Given the description of an element on the screen output the (x, y) to click on. 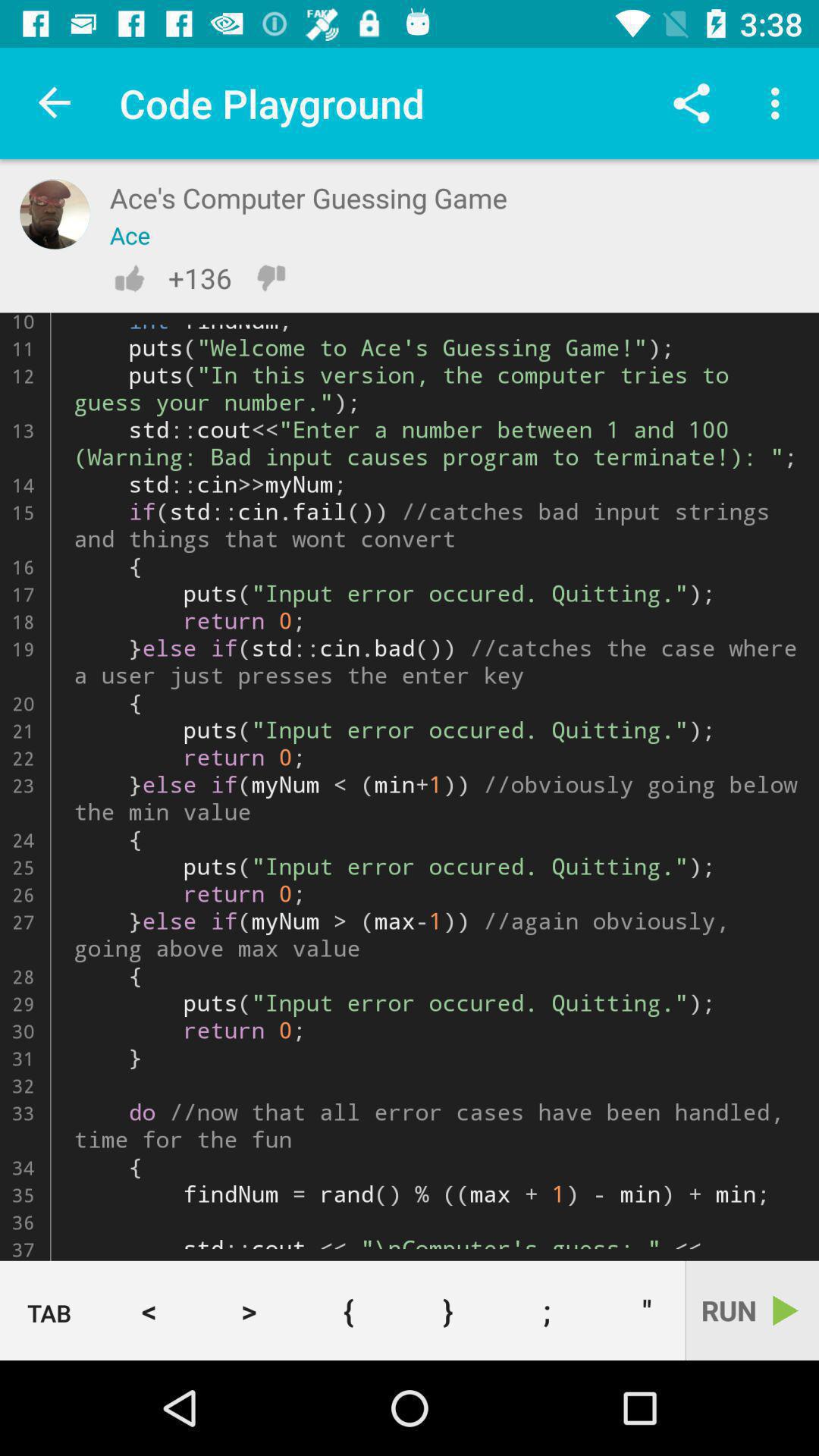
like button (129, 277)
